Given the description of an element on the screen output the (x, y) to click on. 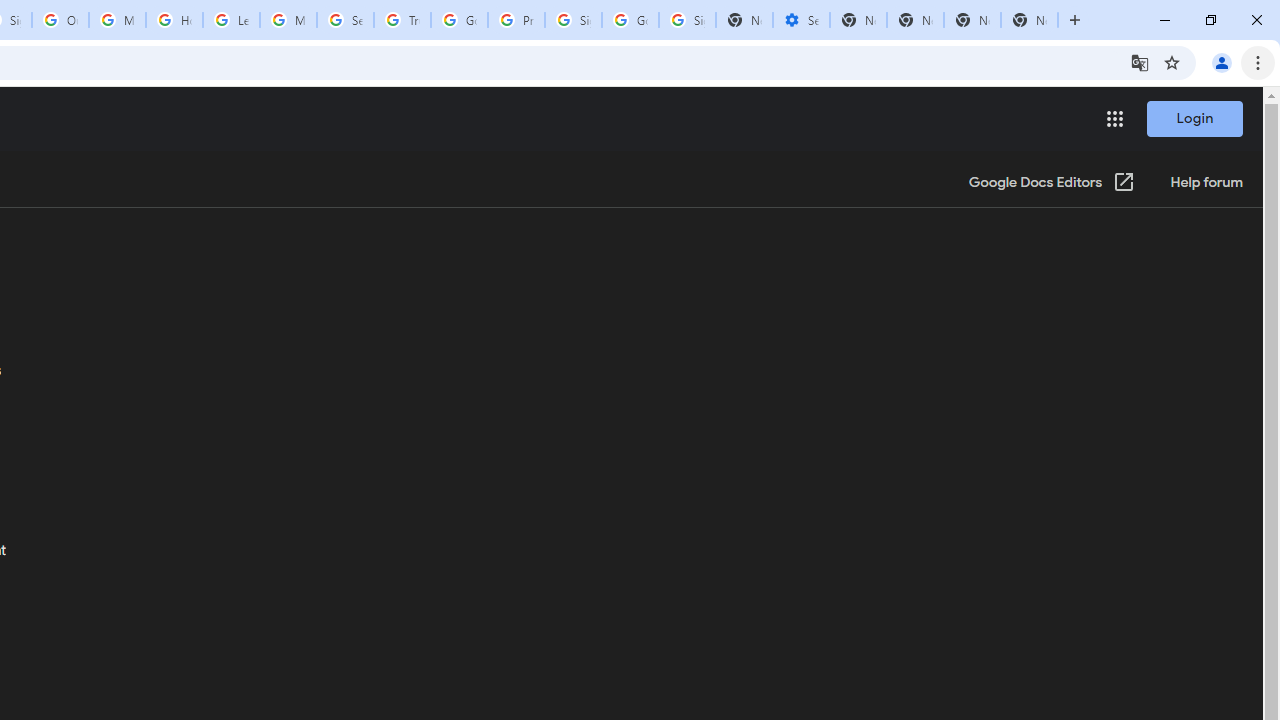
Help forum (1205, 183)
Sign in - Google Accounts (573, 20)
Login (1194, 118)
Sign in - Google Accounts (687, 20)
Google Docs Editors (Opens in new window) (1051, 183)
